Given the description of an element on the screen output the (x, y) to click on. 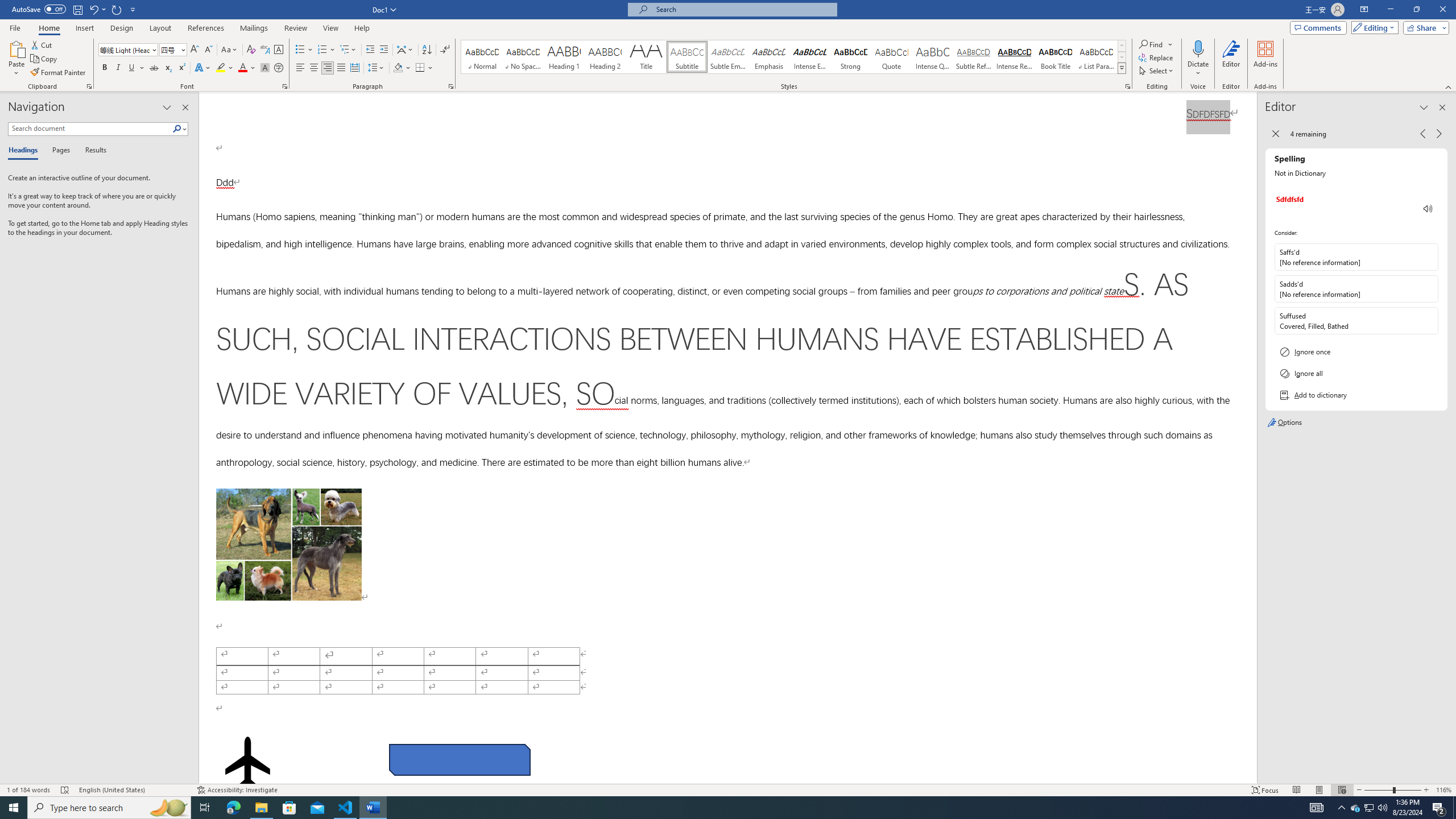
Superscript (180, 67)
Character Shading (264, 67)
Language English (United States) (132, 790)
Font... (285, 85)
Mode (1372, 27)
Cut (42, 44)
AutomationID: QuickStylesGallery (794, 56)
Microsoft search (742, 9)
Copy (45, 58)
Class: MsoCommandBar (728, 789)
